Given the description of an element on the screen output the (x, y) to click on. 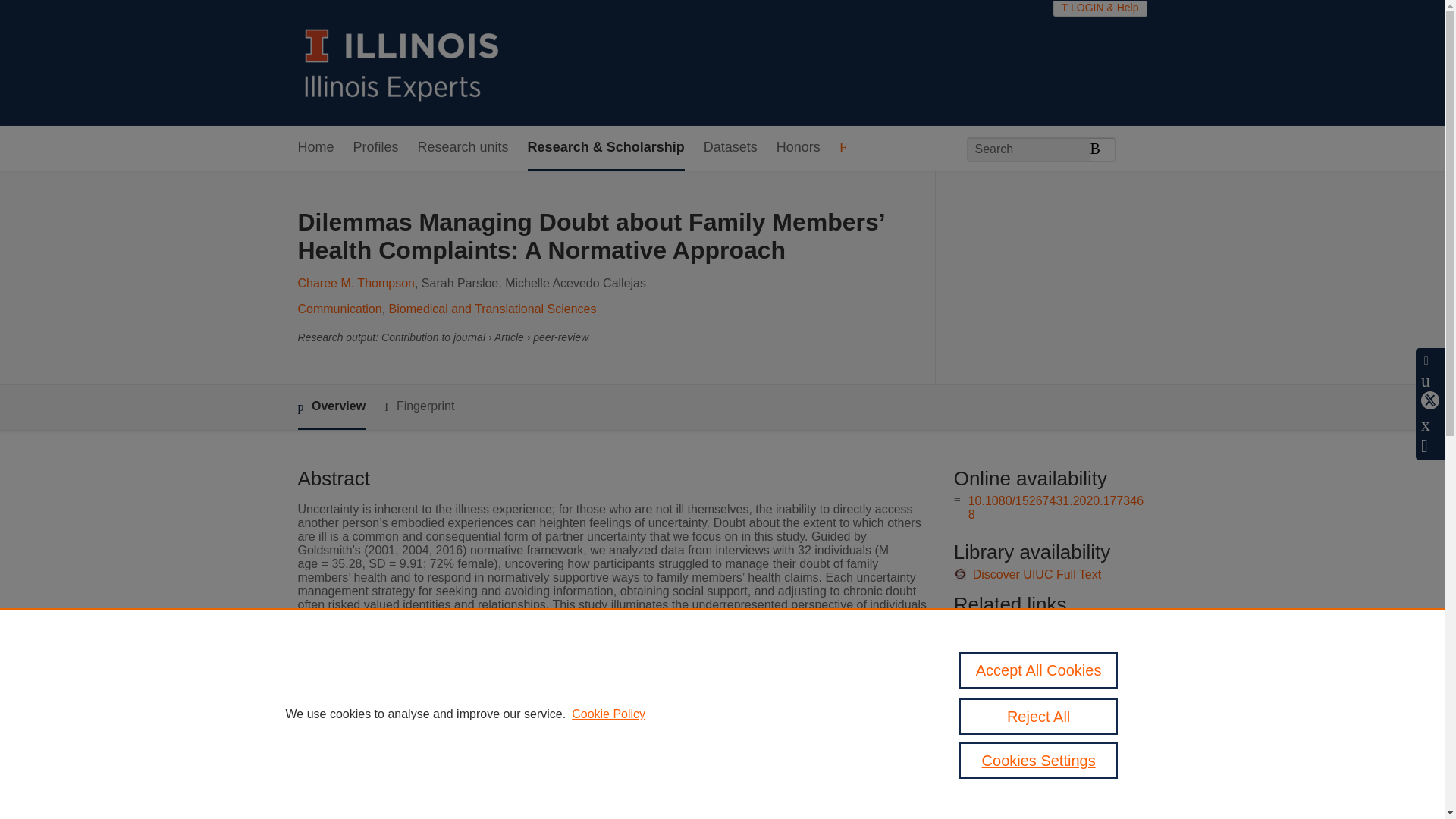
University of Illinois Urbana-Champaign Home (402, 62)
Overview (331, 406)
Communication (339, 308)
Link to the citations in Scopus (1048, 651)
Research units (462, 148)
Link to publication in Scopus (1045, 626)
Journal of Family Communication (597, 708)
Datasets (730, 148)
Honors (798, 148)
